Given the description of an element on the screen output the (x, y) to click on. 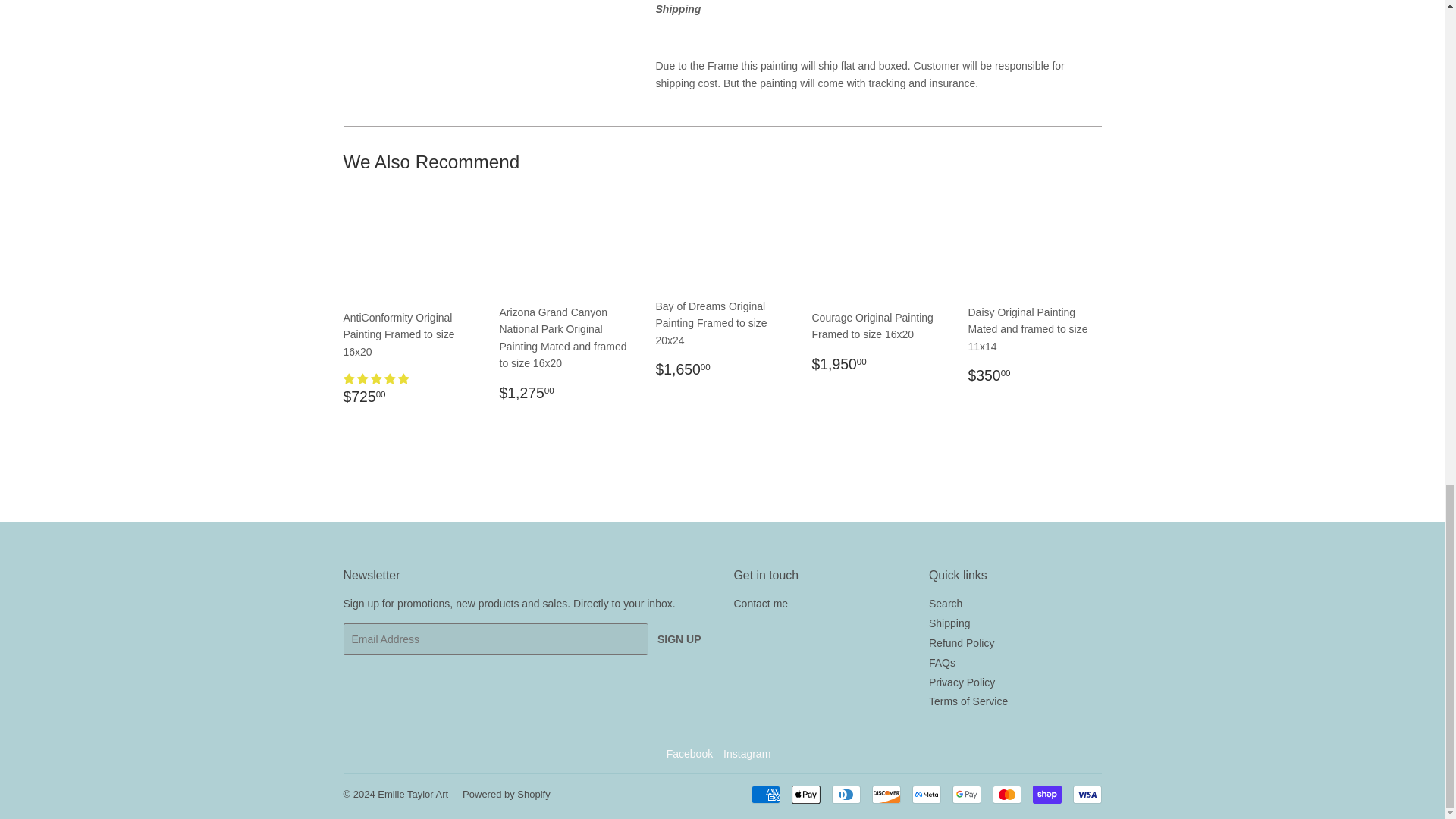
Shop Pay (1046, 794)
Visa (1085, 794)
Emilie Taylor Art on Instagram (746, 753)
Apple Pay (806, 794)
Mastercard (1005, 794)
Emilie Taylor Art on Facebook (689, 753)
Meta Pay (925, 794)
Discover (886, 794)
Contact me (761, 603)
Google Pay (966, 794)
American Express (764, 794)
Diners Club (845, 794)
